Given the description of an element on the screen output the (x, y) to click on. 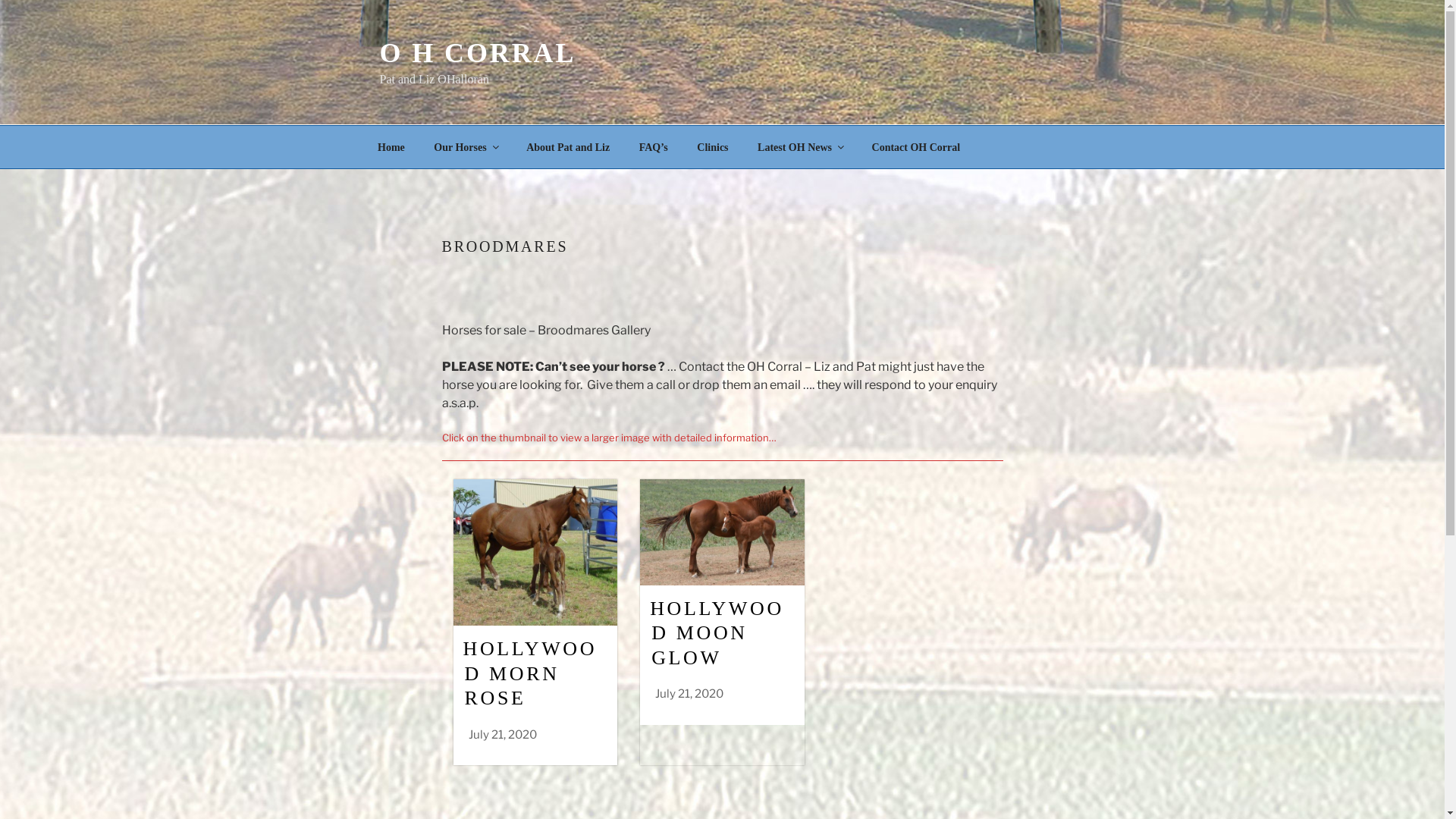
Clinics Element type: text (712, 147)
O H CORRAL Element type: text (477, 52)
Our Horses Element type: text (465, 147)
HOLLYWOOD MORN ROSE Element type: text (529, 673)
Home Element type: text (390, 147)
HOLLYWOOD MOON GLOW Element type: text (716, 632)
Latest OH News Element type: text (800, 147)
Contact OH Corral Element type: text (915, 147)
About Pat and Liz Element type: text (568, 147)
